Given the description of an element on the screen output the (x, y) to click on. 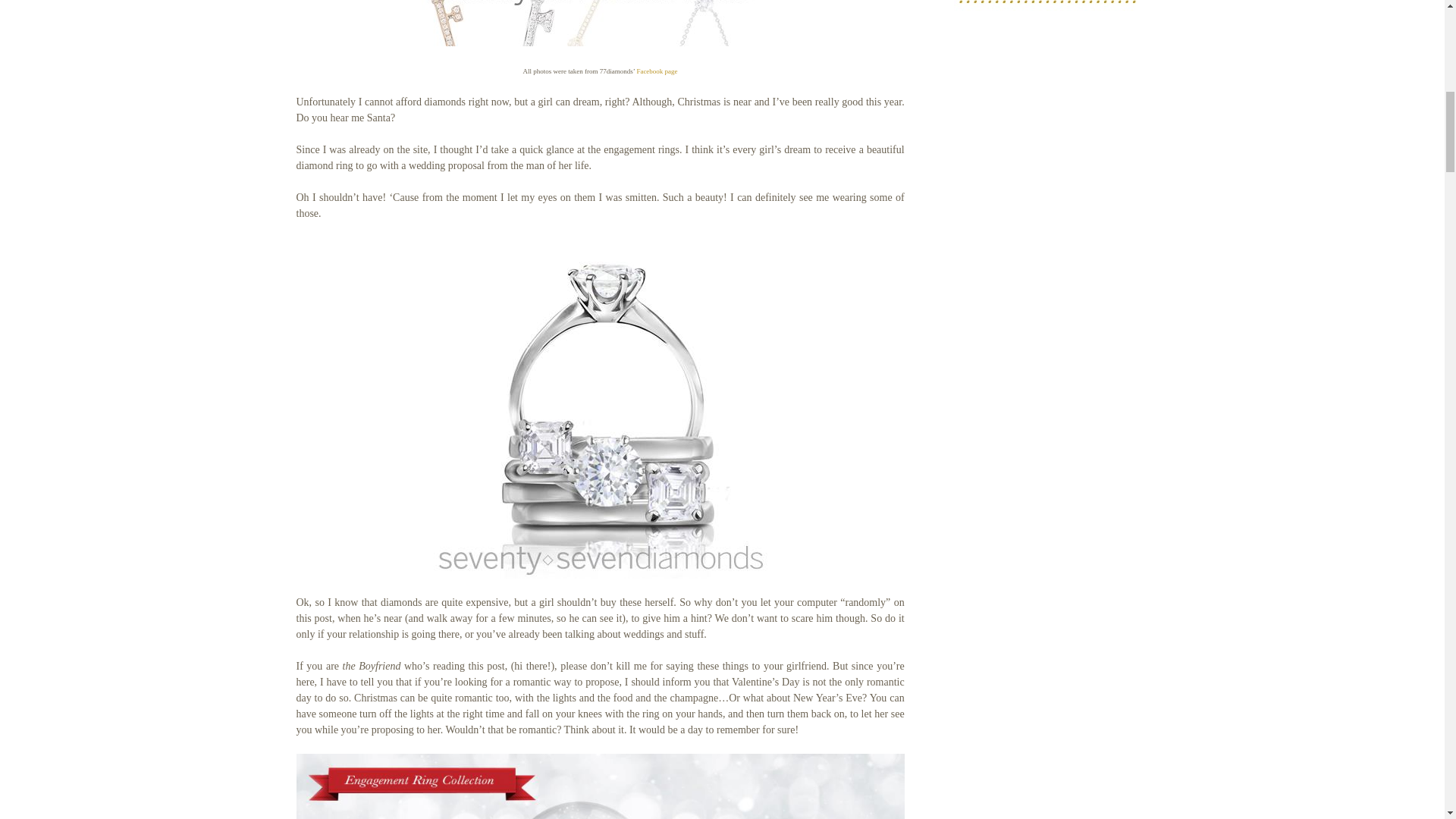
77diamonds necklaces and pendants (600, 22)
Facebook page (656, 71)
77 diamonds Christmas (599, 786)
